Given the description of an element on the screen output the (x, y) to click on. 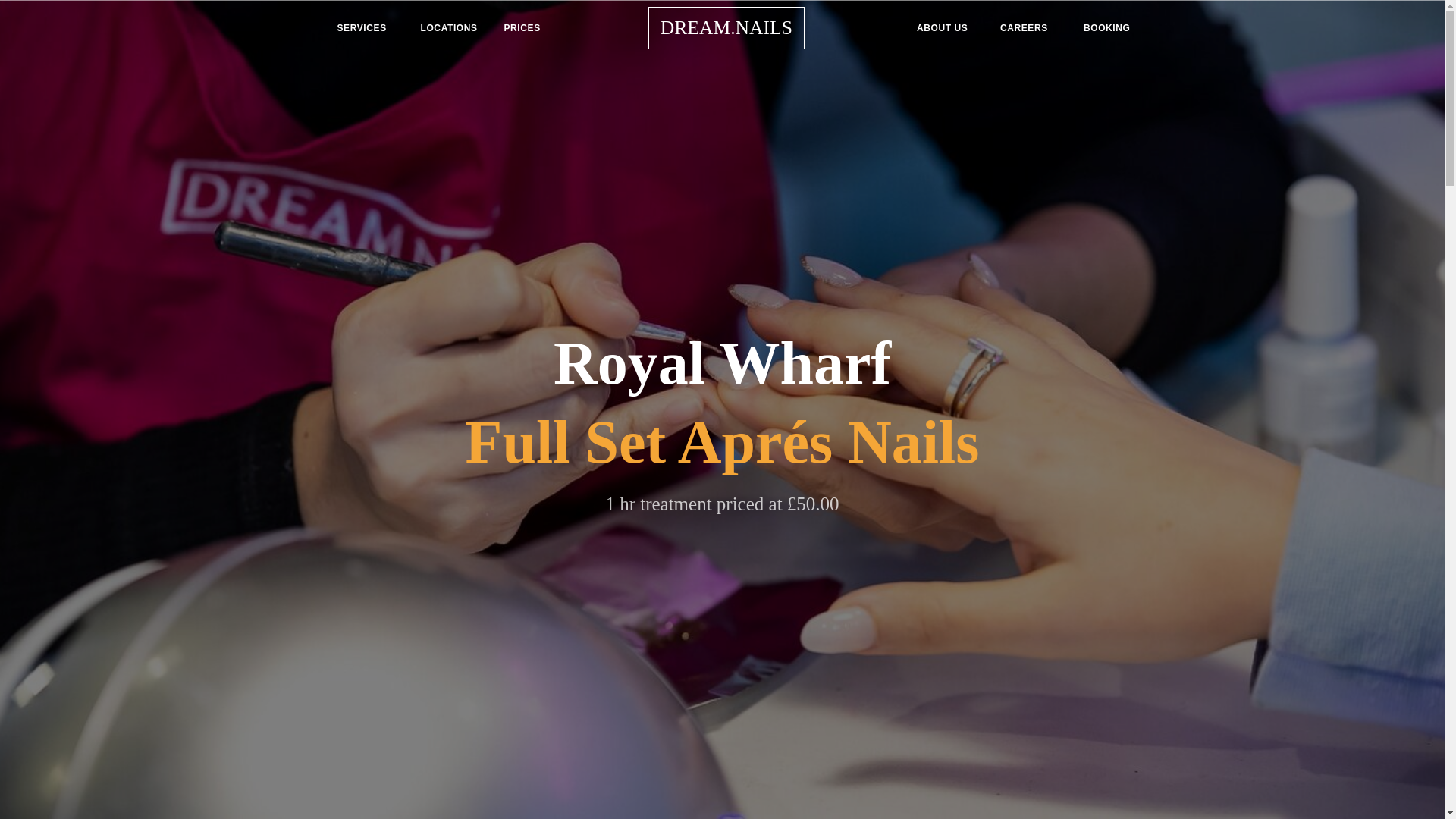
DREAM.NAILS (739, 27)
PRICES (533, 27)
SERVICES (365, 27)
BOOKING (1106, 27)
ABOUT US (946, 27)
CAREERS (1029, 27)
LOCATIONS (449, 27)
